Given the description of an element on the screen output the (x, y) to click on. 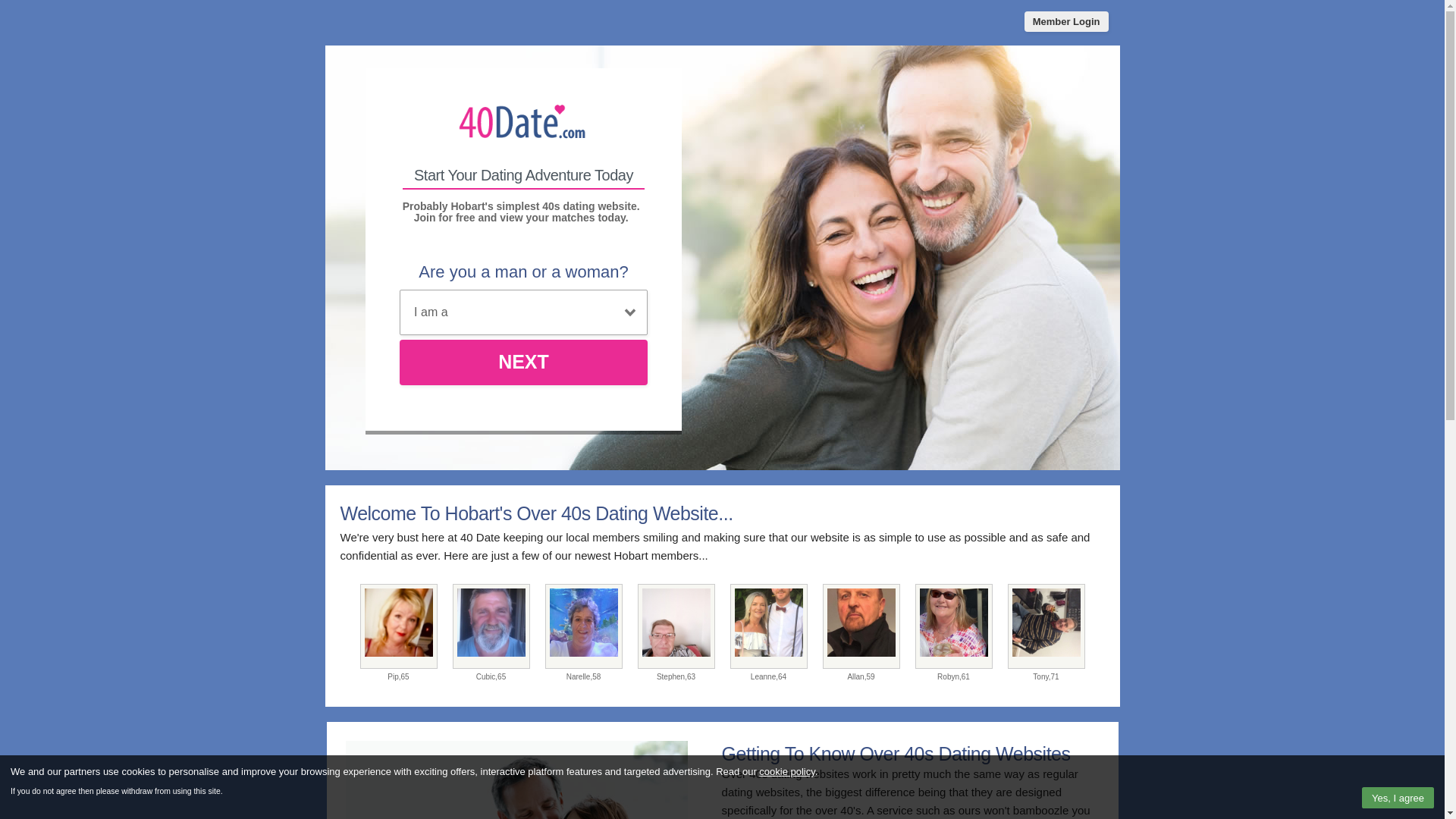
Allan, 59 from Kings Meadows, TAS Element type: hover (860, 625)
Cubic, 65 from Sidmouth, TAS Element type: hover (490, 625)
Leanne, 64 from Upper Castra, TAS Element type: hover (767, 625)
Narelle, 58 from Hobart, TAS Element type: hover (582, 625)
cookie policy Element type: text (786, 771)
Member Login Element type: text (1066, 21)
Yes, I agree Element type: text (1397, 797)
Tony, 71 from Battery Point, TAS Element type: hover (1045, 625)
Over 40 Dating - .co.uk Element type: hover (523, 122)
NEXT Element type: text (523, 362)
Stephen, 63 from Mowbray, TAS Element type: hover (675, 625)
Pip, 65 from Hobart, TAS Element type: hover (397, 625)
Robyn, 61 from Barrington, TAS Element type: hover (952, 625)
